Given the description of an element on the screen output the (x, y) to click on. 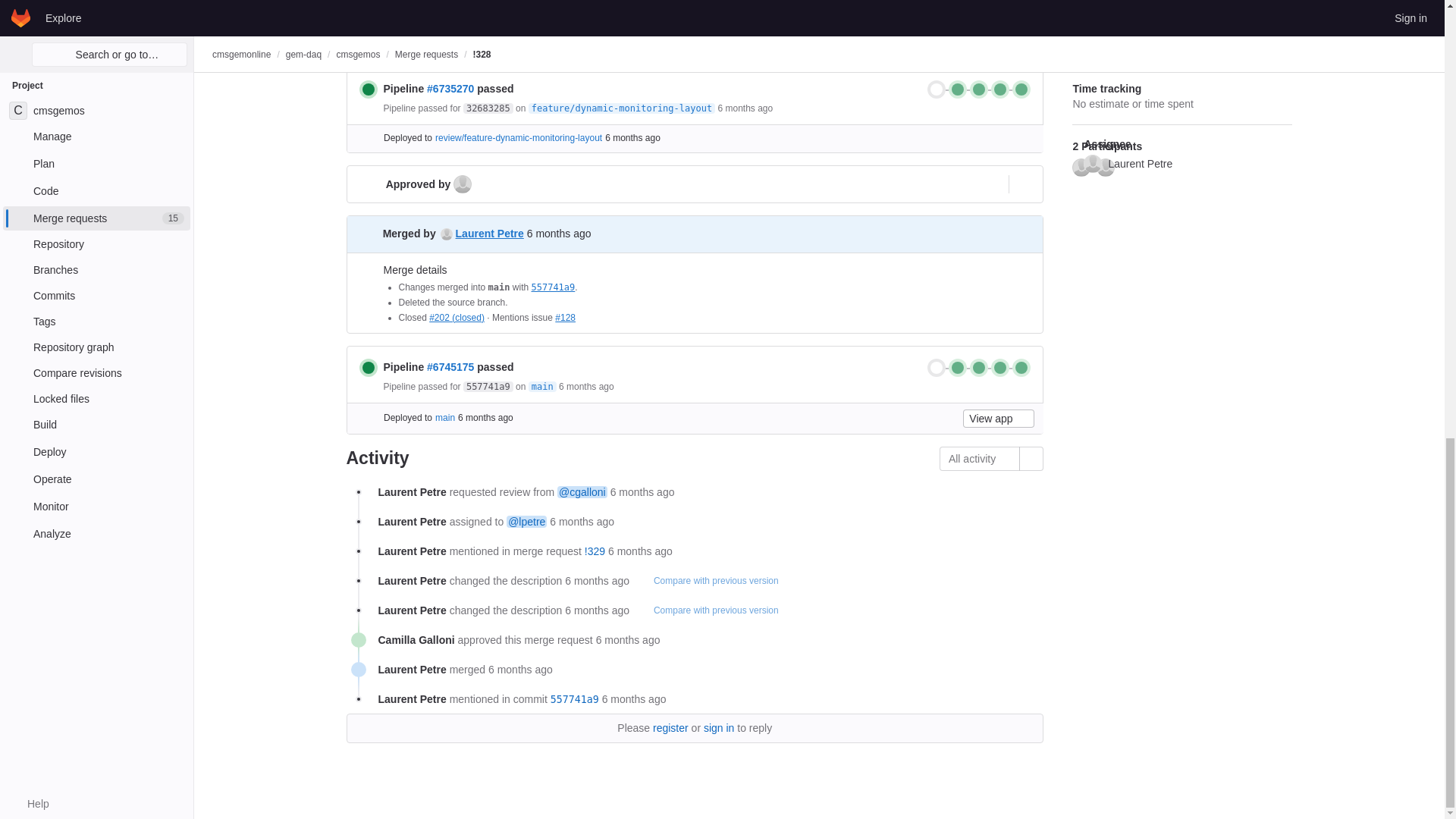
Passed (368, 89)
